Given the description of an element on the screen output the (x, y) to click on. 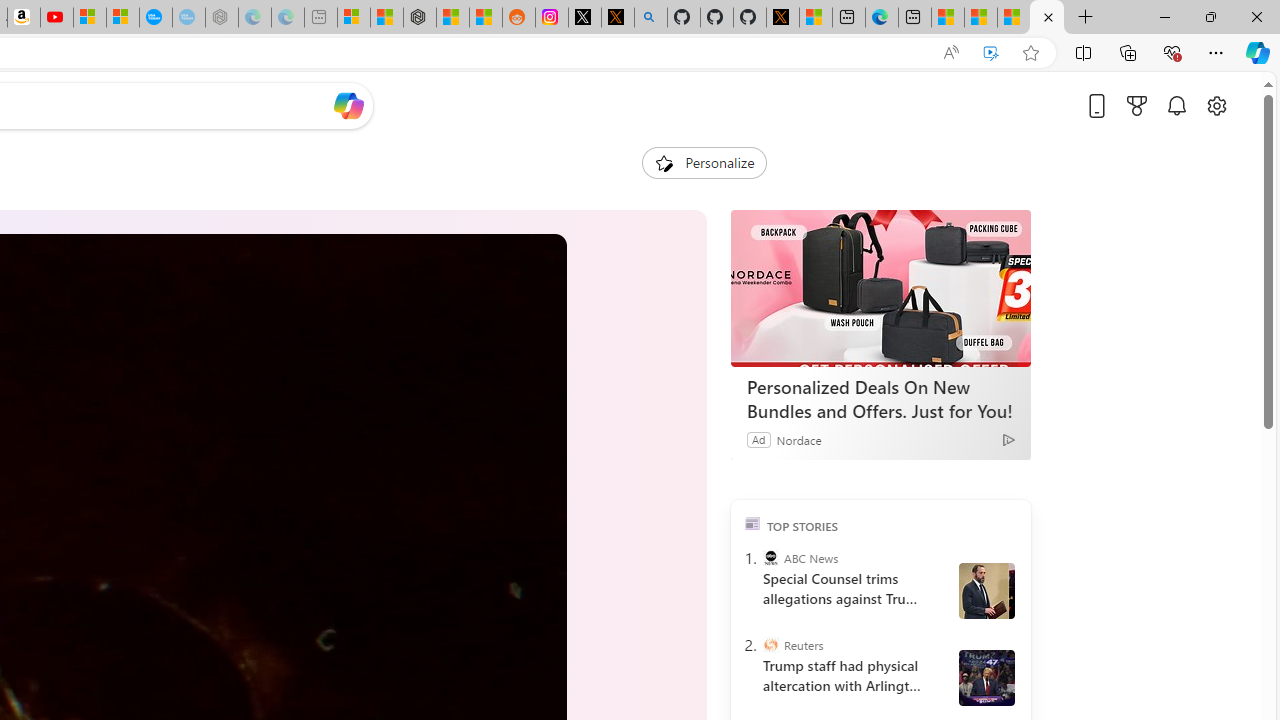
Reuters (770, 645)
Log in to X / X (585, 17)
Personalize (703, 162)
